Given the description of an element on the screen output the (x, y) to click on. 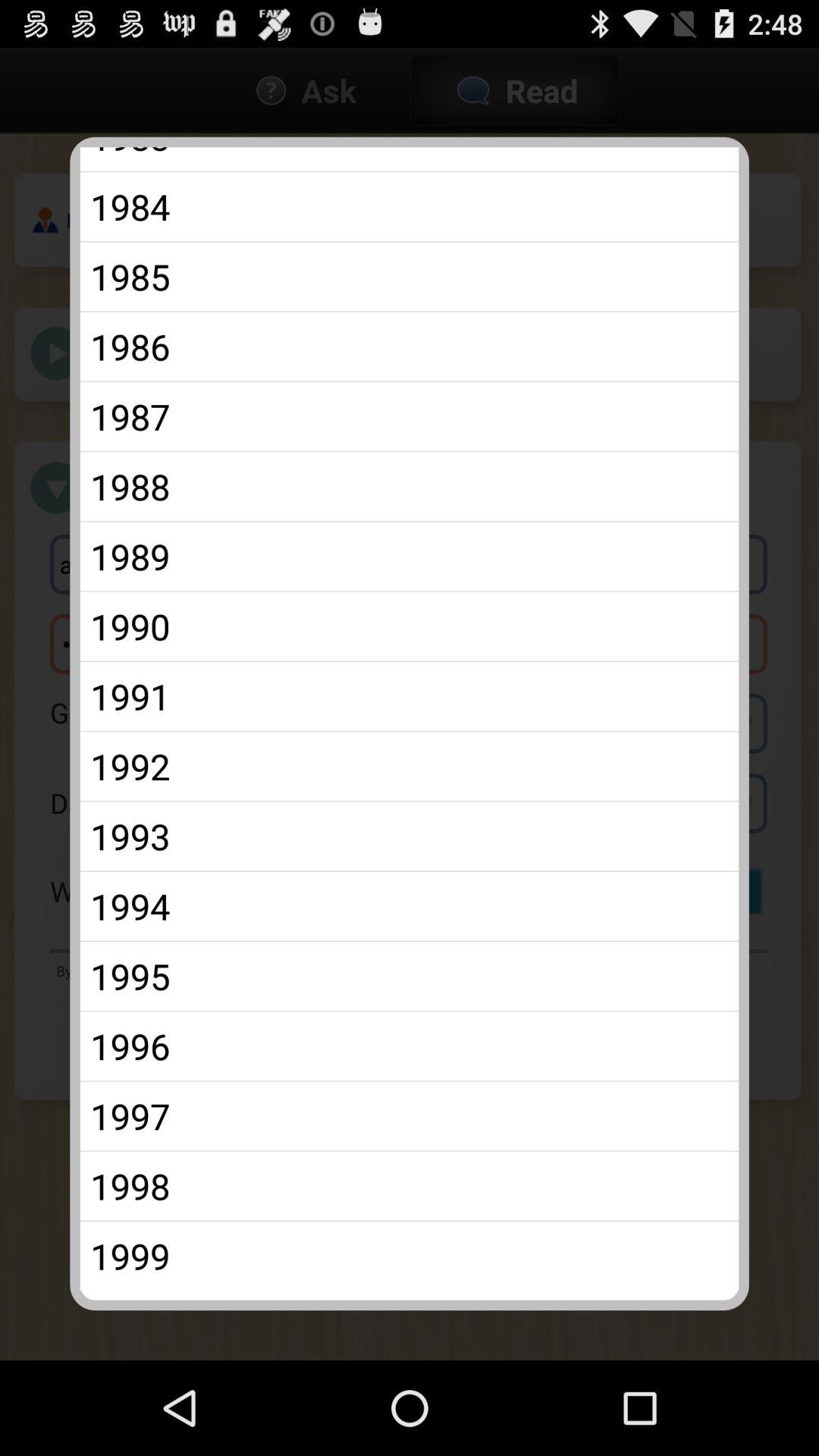
tap item above the 1986 app (409, 276)
